Given the description of an element on the screen output the (x, y) to click on. 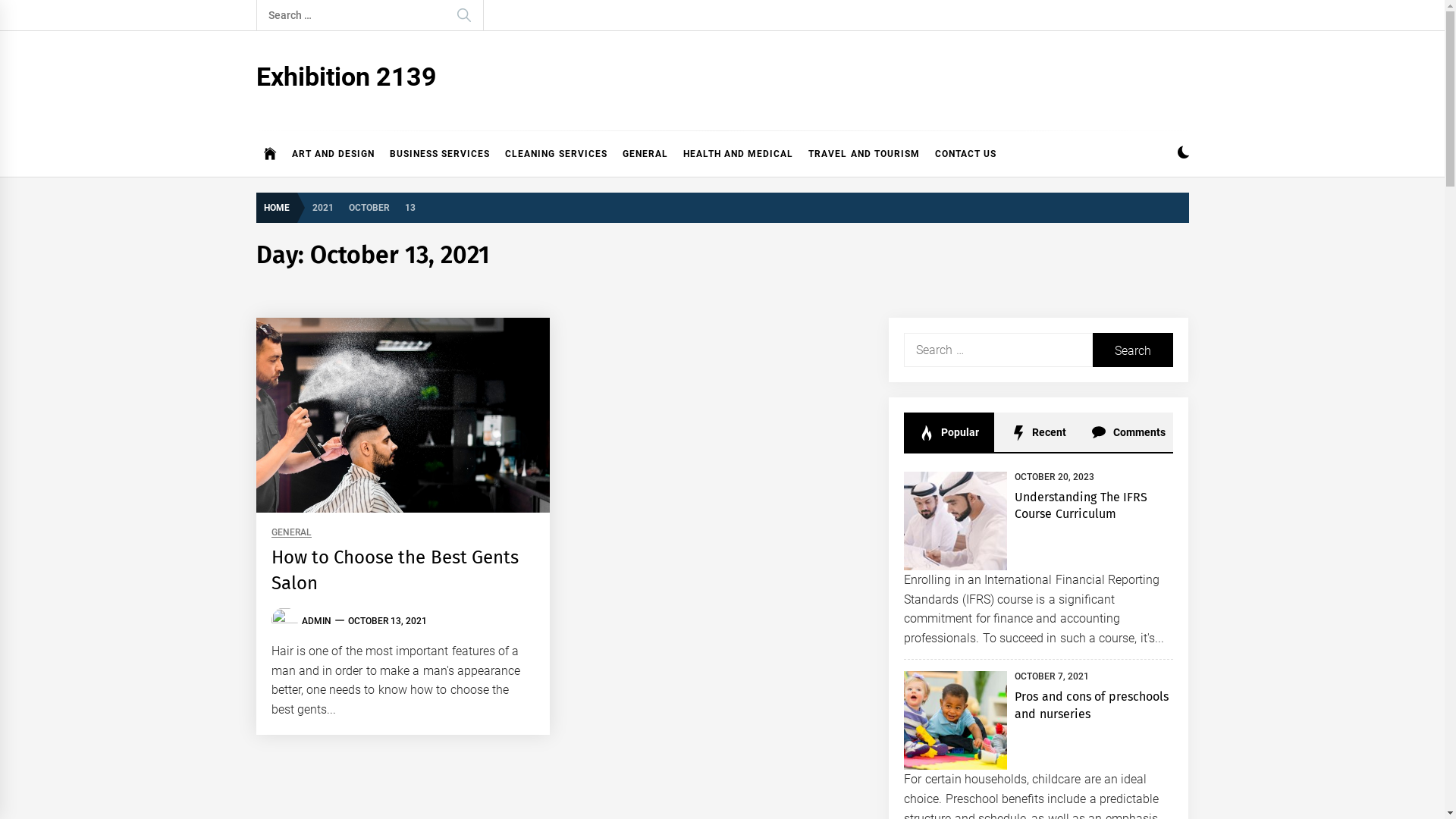
Understanding The IFRS Course Curriculum Element type: text (1080, 504)
OCTOBER 13, 2021 Element type: text (386, 620)
Exhibition 2139 Element type: text (346, 76)
Recent Element type: text (1038, 431)
GENERAL Element type: text (645, 153)
TRAVEL AND TOURISM Element type: text (863, 153)
CONTACT US Element type: text (965, 153)
Search Element type: text (1132, 349)
OCTOBER Element type: text (369, 206)
BUSINESS SERVICES Element type: text (439, 153)
Search Element type: text (463, 15)
Comments Element type: text (1128, 431)
2021 Element type: text (322, 206)
HOME Element type: text (280, 207)
Pros and cons of preschools and nurseries Element type: text (1090, 704)
How to Choose the Best Gents Salon Element type: text (395, 569)
13 Element type: text (410, 206)
CLEANING SERVICES Element type: text (555, 153)
Popular Element type: text (948, 431)
Home Element type: hover (270, 153)
ADMIN Element type: text (316, 620)
HEALTH AND MEDICAL Element type: text (738, 153)
GENERAL Element type: text (291, 532)
ART AND DESIGN Element type: text (332, 153)
